Given the description of an element on the screen output the (x, y) to click on. 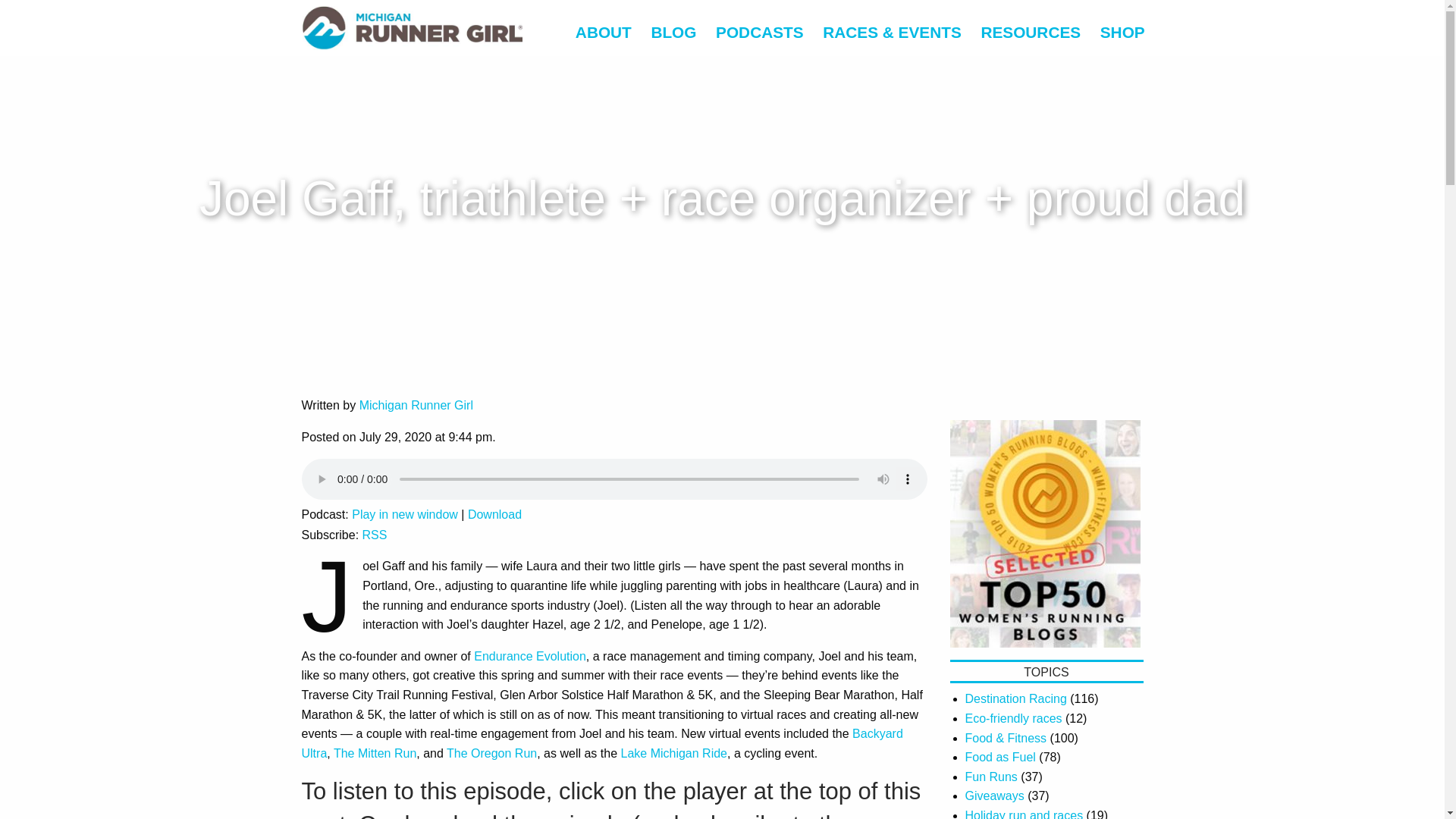
Play in new window (405, 513)
Download (494, 513)
Subscribe via RSS (374, 534)
